Given the description of an element on the screen output the (x, y) to click on. 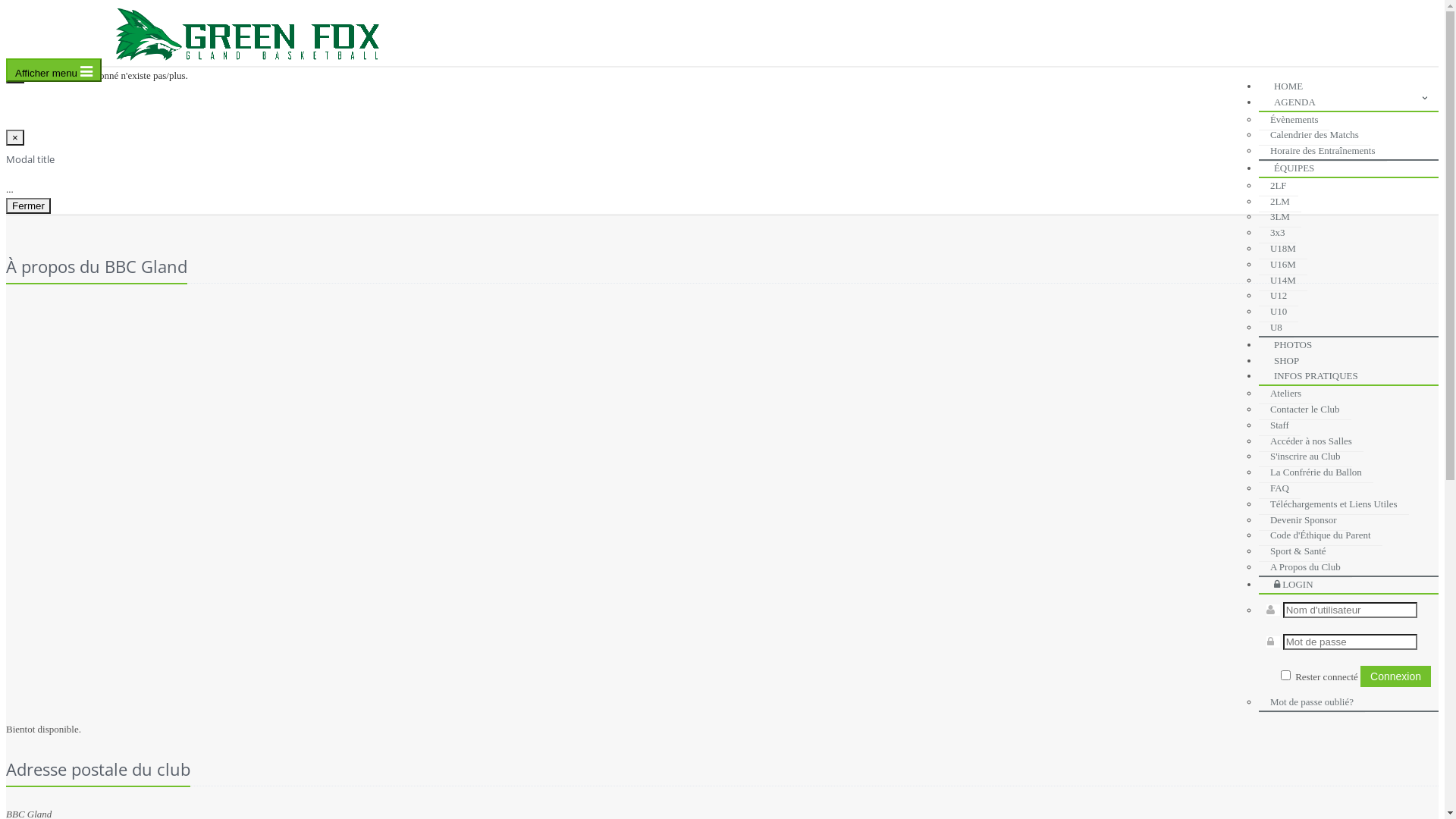
U18M Element type: text (1282, 248)
Afficher menu Element type: text (53, 69)
AGENDA Element type: text (1298, 100)
S'inscrire au Club Element type: text (1305, 456)
PHOTOS Element type: text (1296, 343)
HOME Element type: text (1291, 84)
U14M Element type: text (1282, 280)
Devenir Sponsor Element type: text (1303, 519)
2LM Element type: text (1279, 201)
U16M Element type: text (1282, 264)
2LF Element type: text (1278, 185)
INFOS PRATIQUES Element type: text (1319, 374)
Ateliers Element type: text (1285, 393)
Contacter le Club Element type: text (1304, 409)
U8 Element type: text (1275, 327)
Fermer Element type: text (28, 205)
A Propos du Club Element type: text (1305, 566)
SHOP Element type: text (1289, 358)
3LM Element type: text (1279, 216)
U12 Element type: text (1278, 295)
3x3 Element type: text (1277, 232)
FAQ Element type: text (1279, 487)
Connexion Element type: text (1395, 676)
Calendrier des Matchs Element type: text (1314, 134)
LOGIN Element type: text (1297, 582)
Staff Element type: text (1279, 425)
U10 Element type: text (1278, 311)
